Given the description of an element on the screen output the (x, y) to click on. 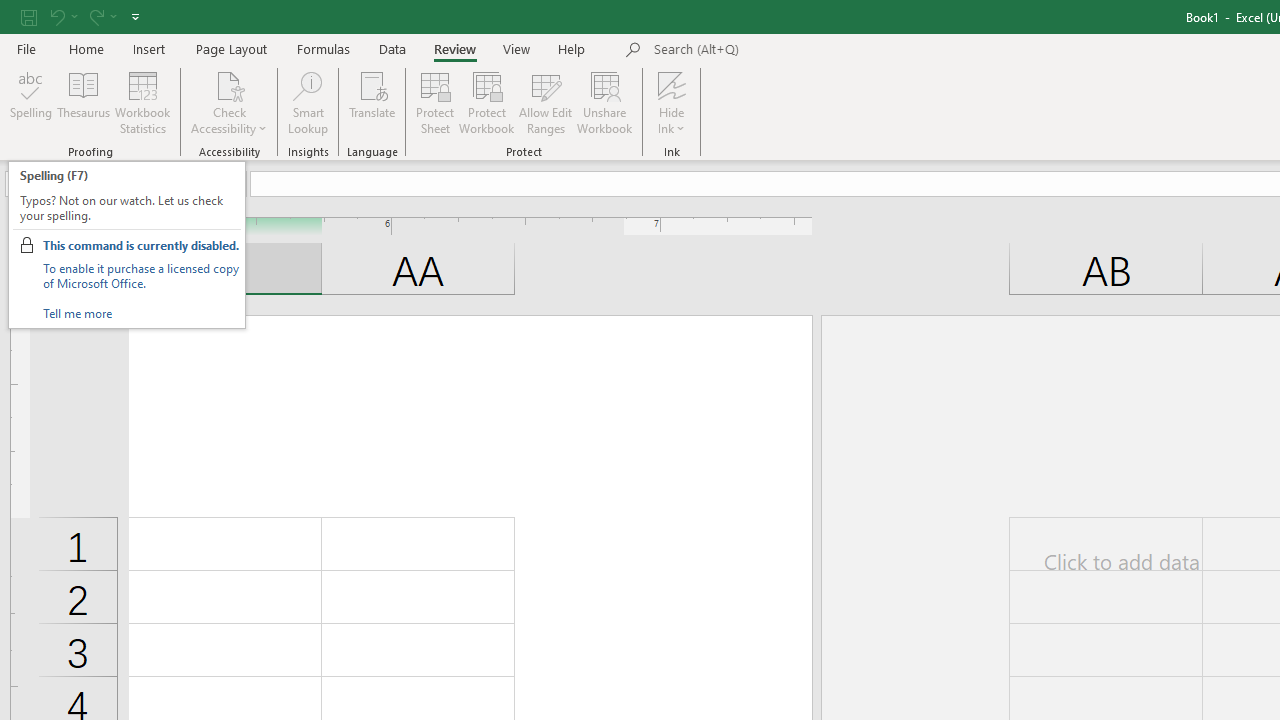
Protect Sheet... (434, 102)
Allow Edit Ranges (545, 102)
Workbook Statistics (142, 102)
